Given the description of an element on the screen output the (x, y) to click on. 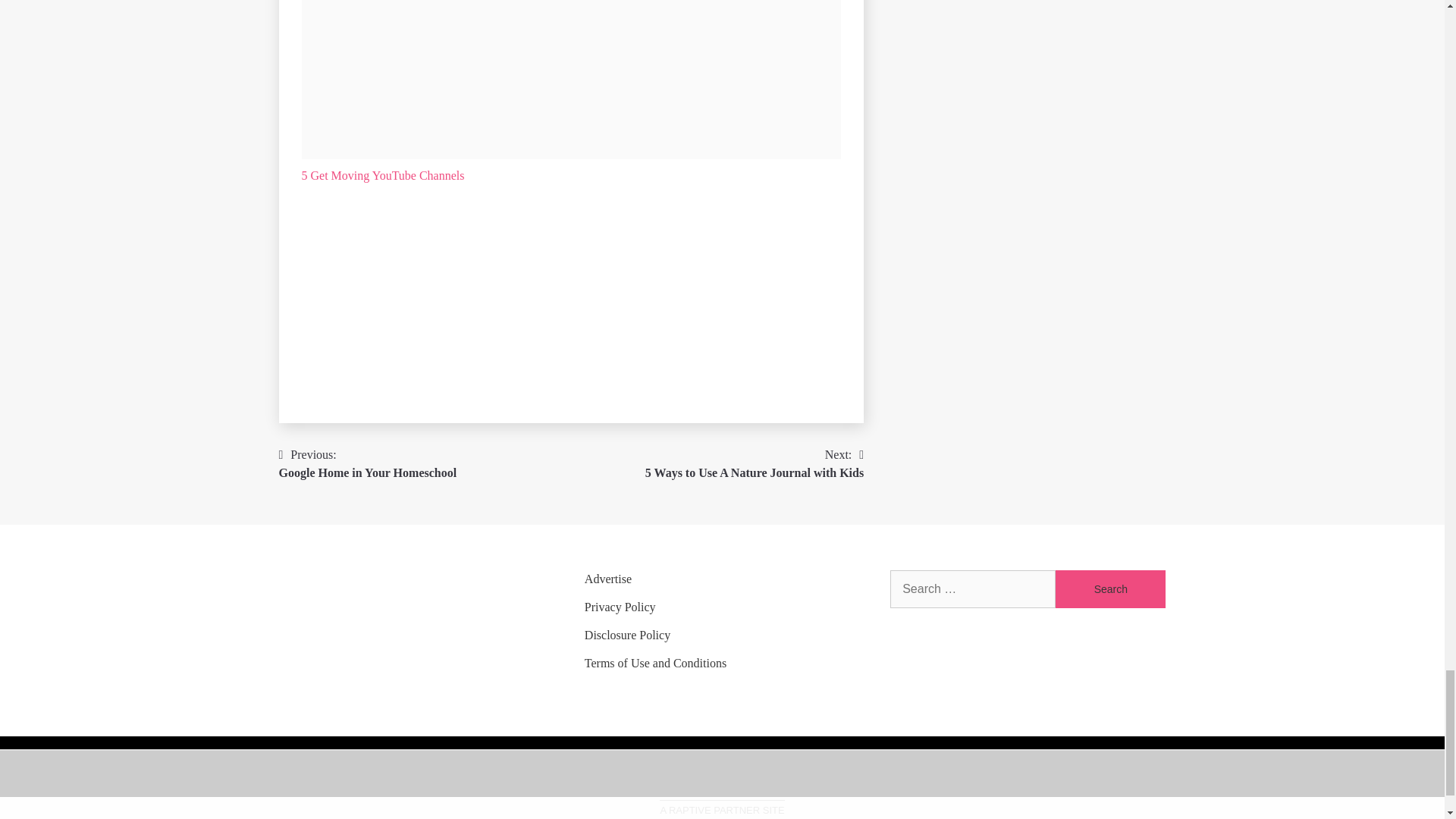
Search (1110, 589)
Search (1110, 589)
